Given the description of an element on the screen output the (x, y) to click on. 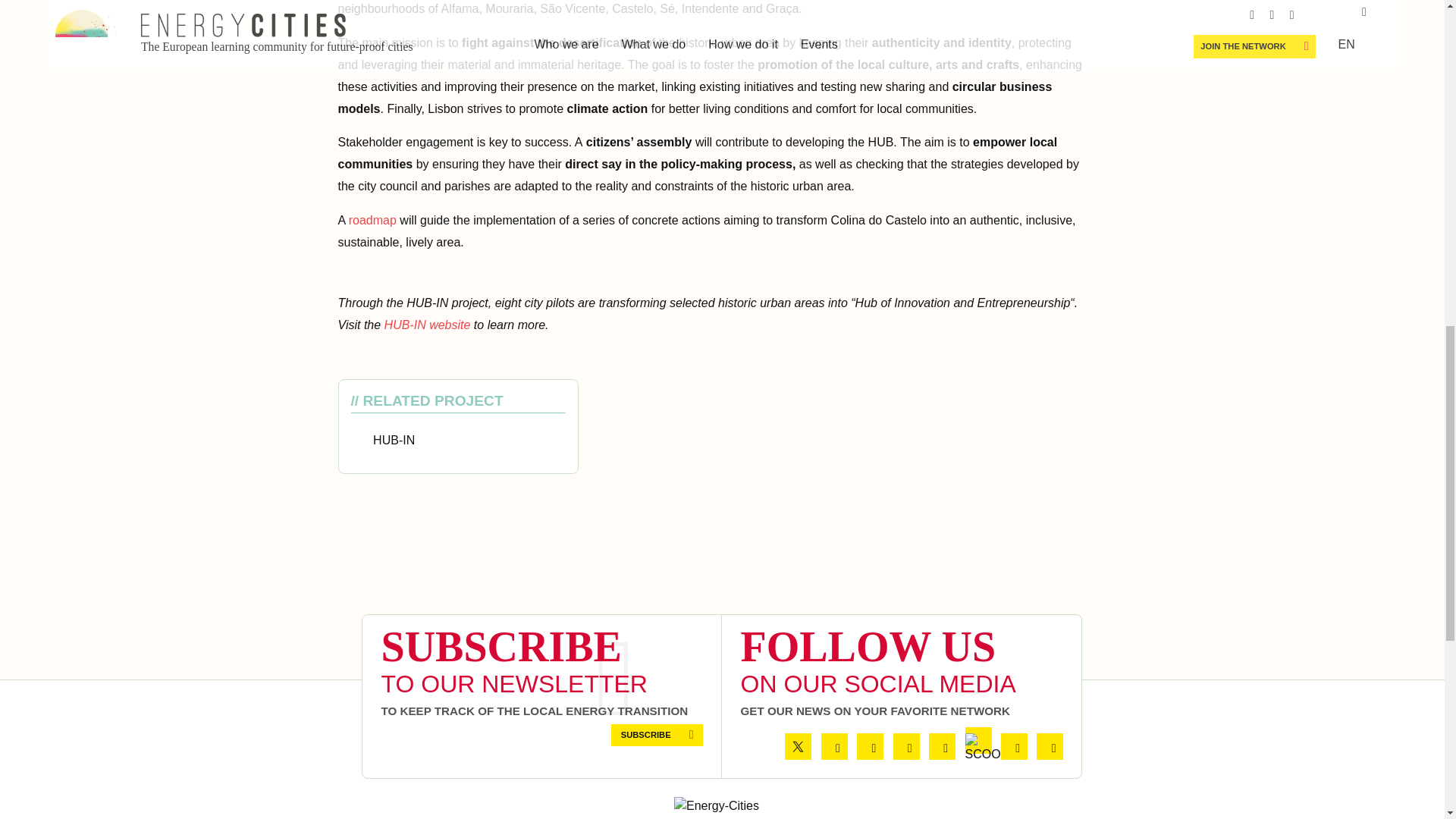
roadmap (372, 219)
HUB-IN (393, 440)
HUB-IN website (427, 324)
